Given the description of an element on the screen output the (x, y) to click on. 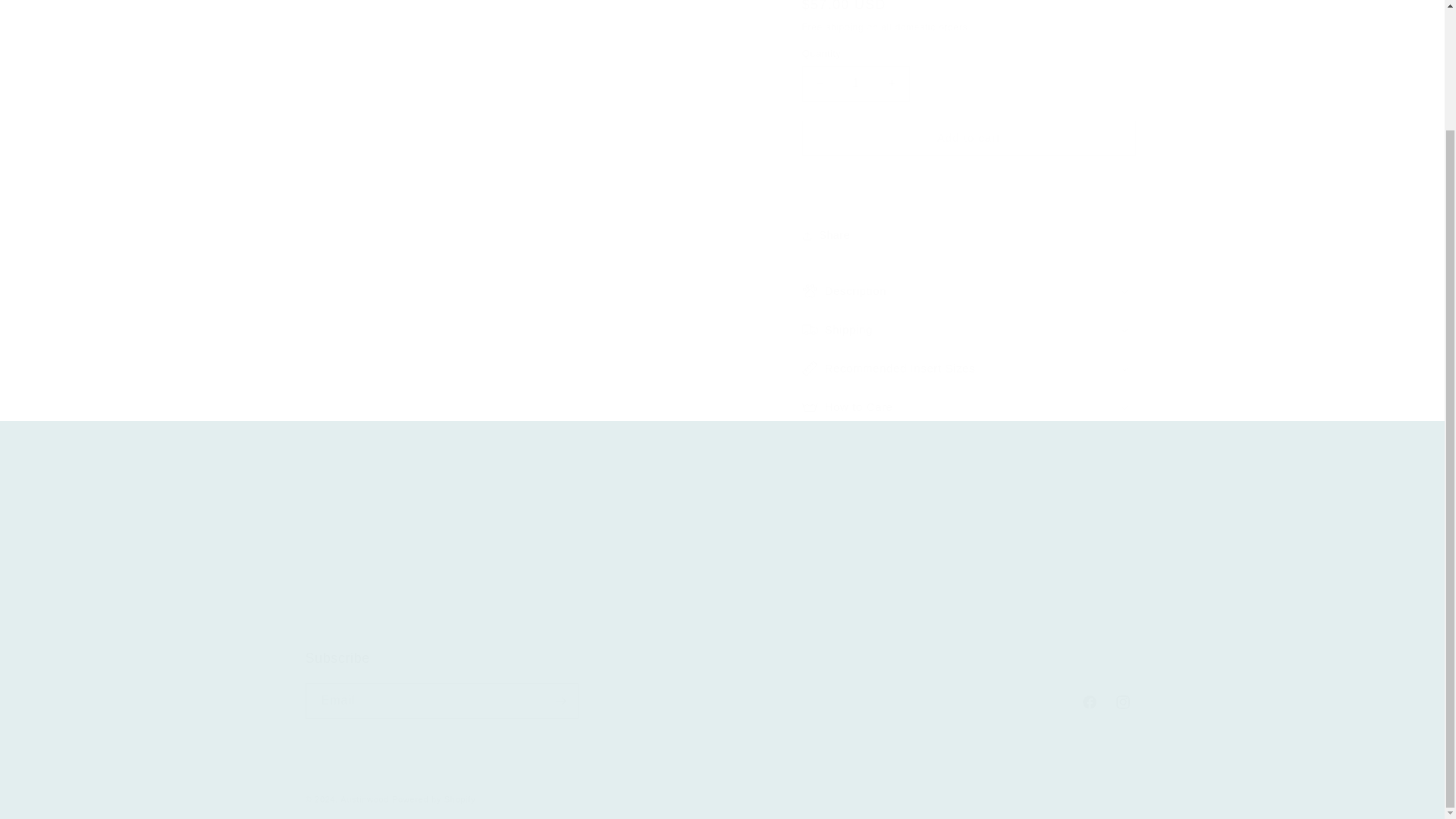
1 (441, 560)
